Given the description of an element on the screen output the (x, y) to click on. 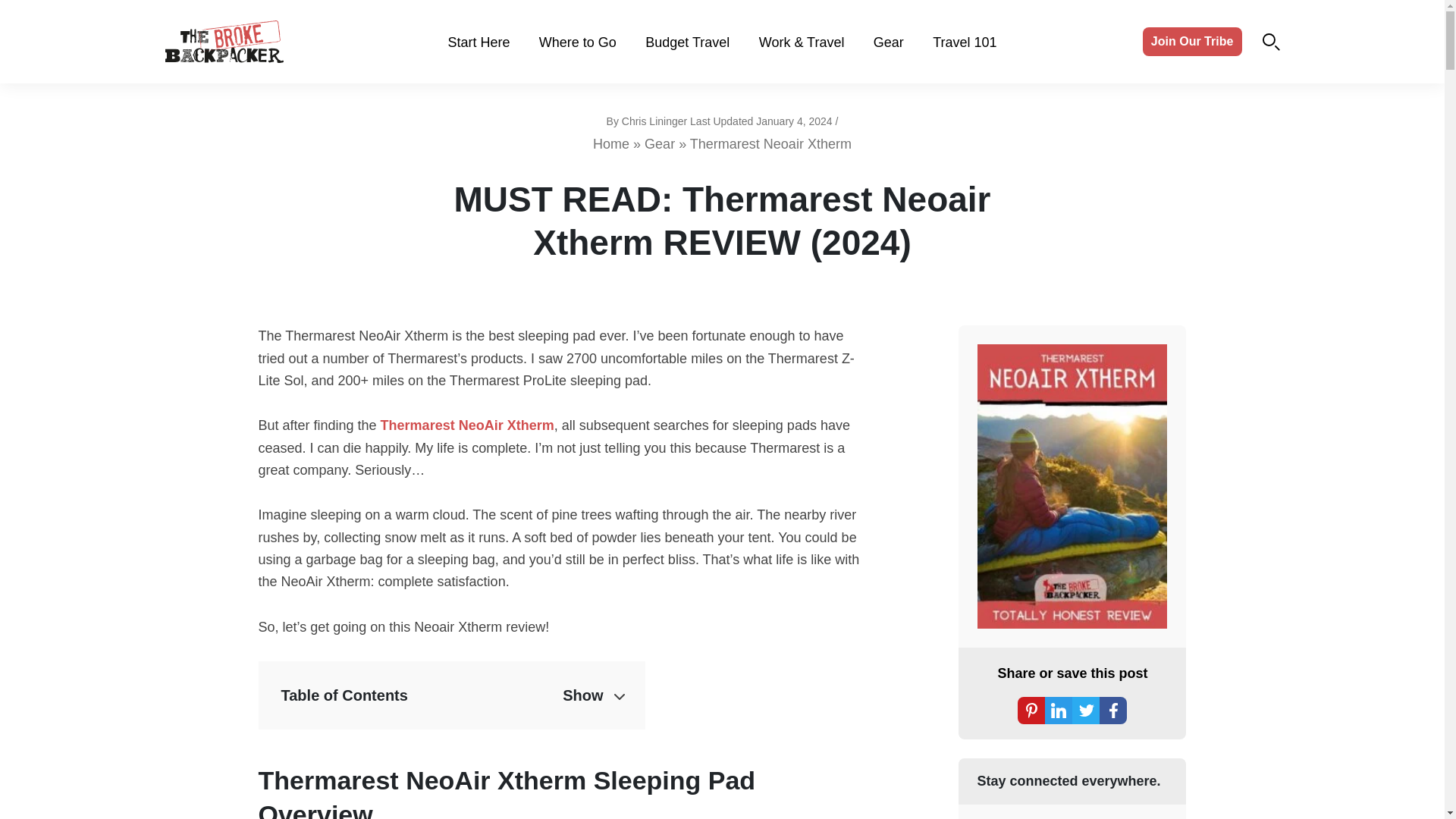
Where to Go (576, 42)
Start Here (477, 42)
